Given the description of an element on the screen output the (x, y) to click on. 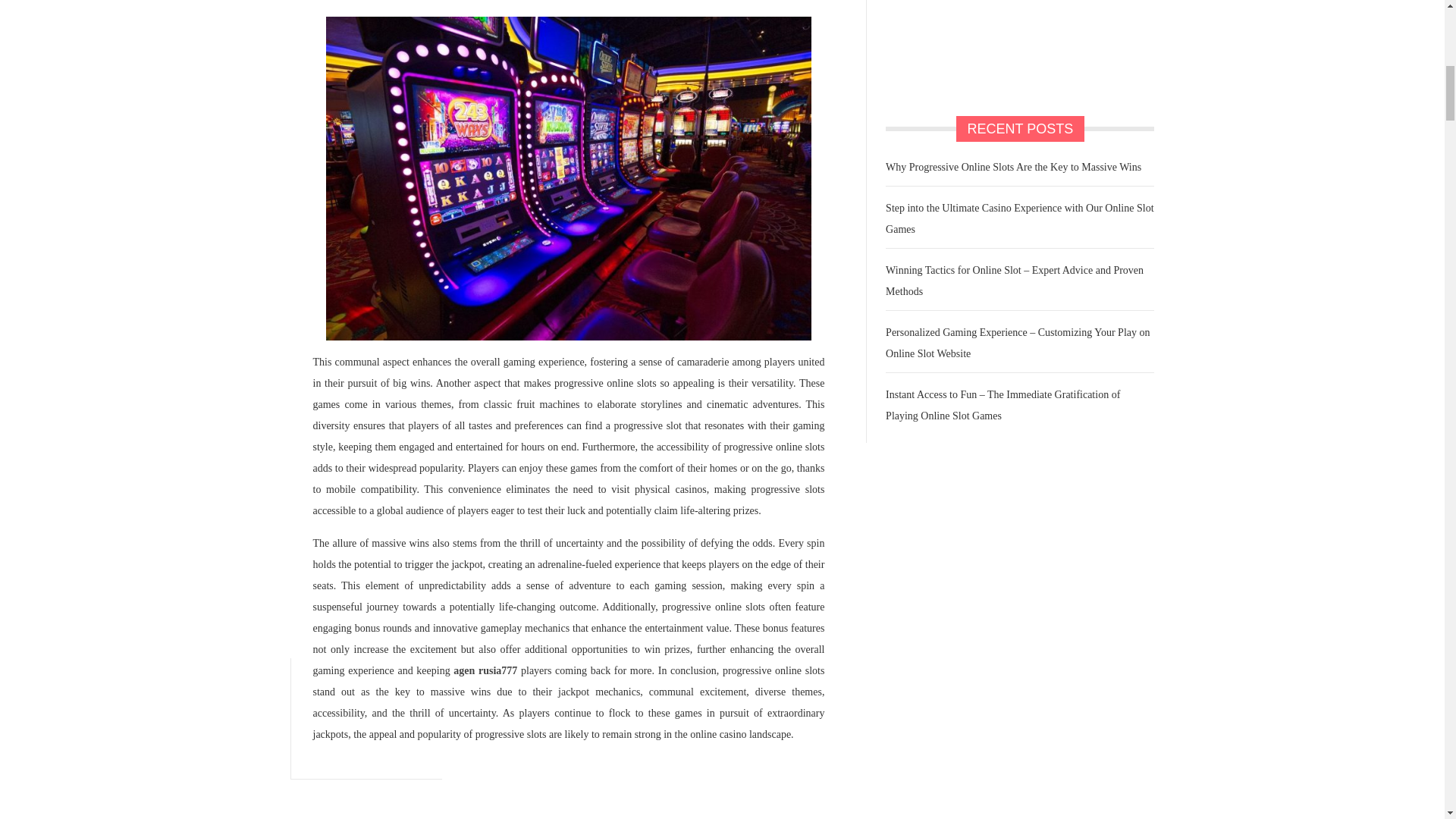
agen rusia777 (484, 670)
